Given the description of an element on the screen output the (x, y) to click on. 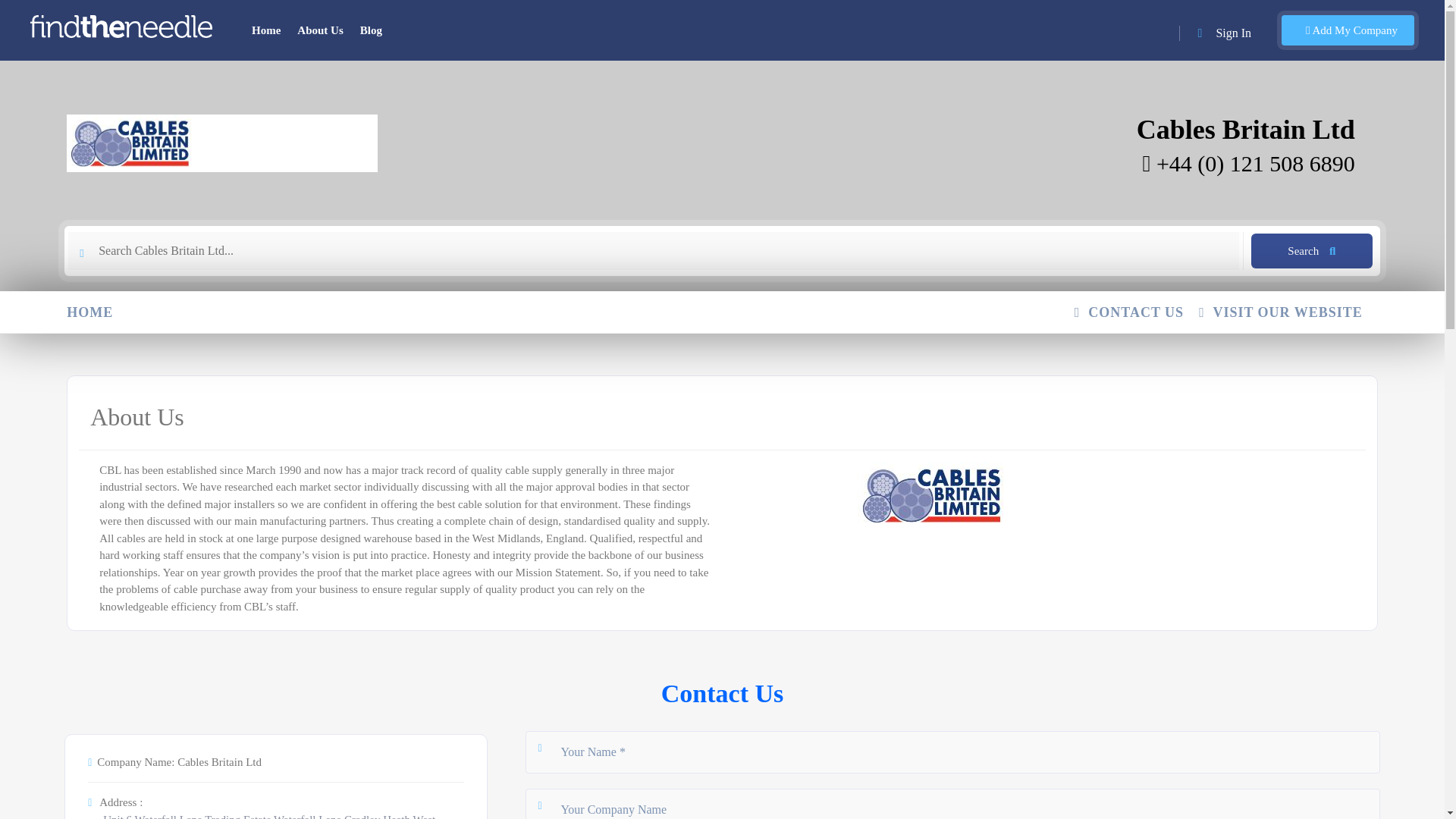
Search (1311, 250)
Home (266, 30)
About Us (319, 30)
  CONTACT US (1136, 312)
  VISIT OUR WEBSITE (1287, 312)
Contact Us (721, 694)
Add My Company (1347, 30)
Blog (371, 30)
HOME (97, 312)
Cables Britain Ltd (1246, 129)
